Given the description of an element on the screen output the (x, y) to click on. 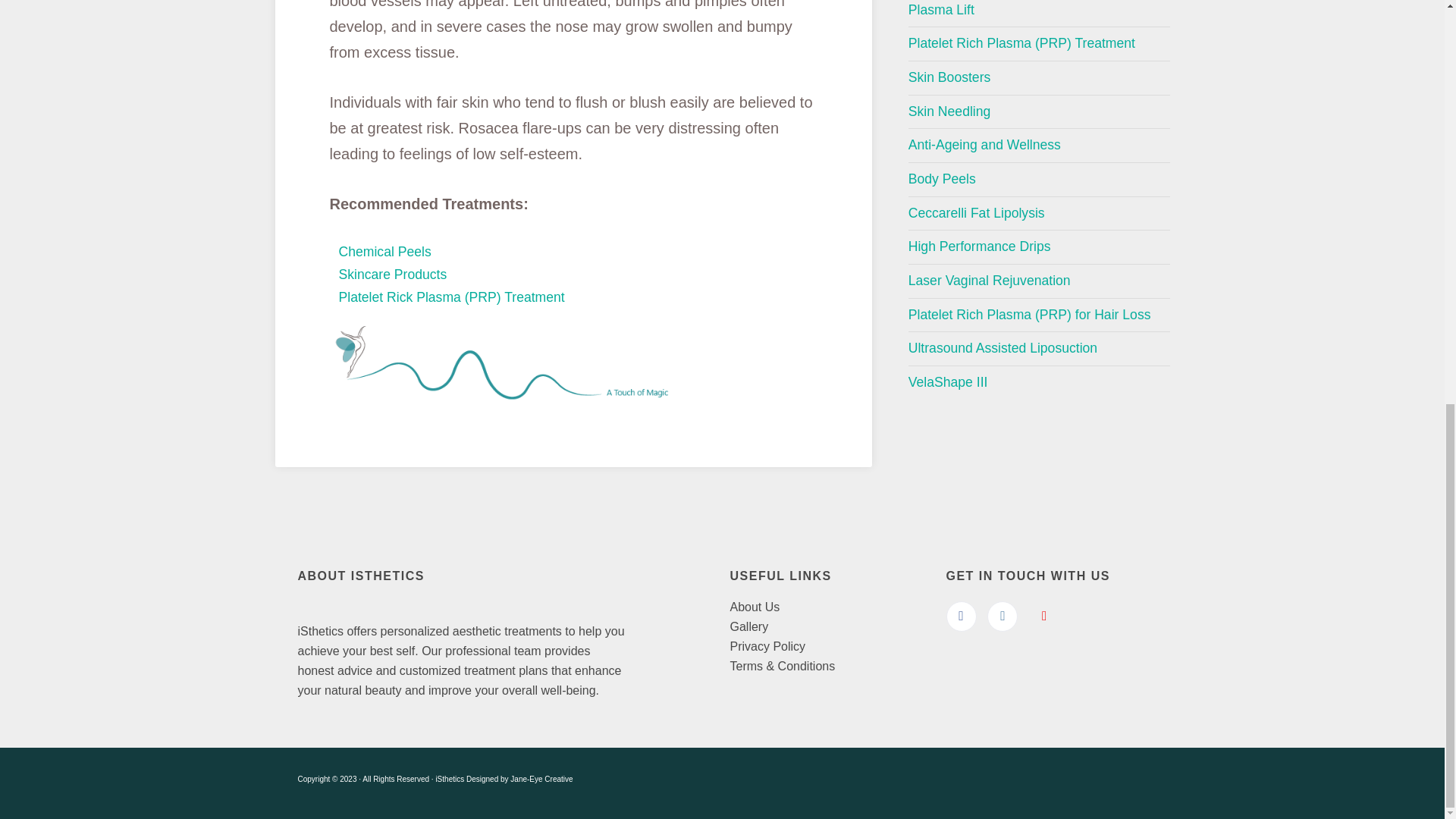
Body Peels (1039, 179)
Ultrasound Assisted Liposuction (1039, 348)
Skincare Products (391, 273)
Skin Needling (1039, 111)
Anti-Ageing and Wellness (1039, 145)
Skin Boosters (1039, 78)
Laser Vaginal Rejuvenation (1039, 281)
Ceccarelli Fat Lipolysis (1039, 213)
VelaShape III (1039, 382)
Plasma Lift (1039, 13)
